Given the description of an element on the screen output the (x, y) to click on. 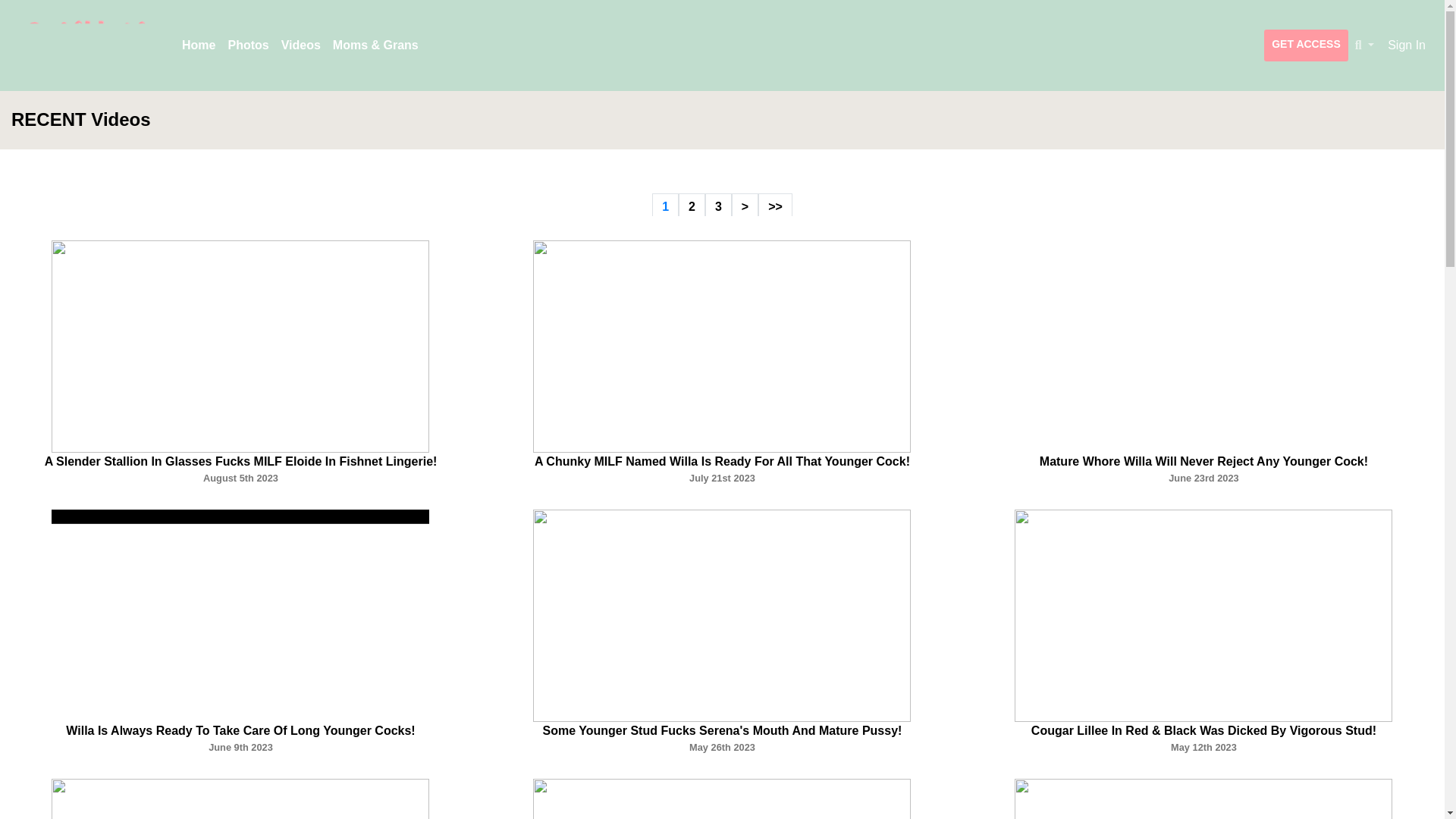
Videos (300, 45)
Photos (248, 45)
Willa Is Always Ready To Take Care Of Long Younger Cocks! (239, 730)
2 (691, 206)
Sign In (1406, 45)
GET ACCESS (1305, 45)
Mature Whore Willa Will Never Reject Any Younger Cock! (1203, 461)
3 (718, 206)
Some Younger Stud Fucks Serena's Mouth And Mature Pussy! (722, 730)
